Given the description of an element on the screen output the (x, y) to click on. 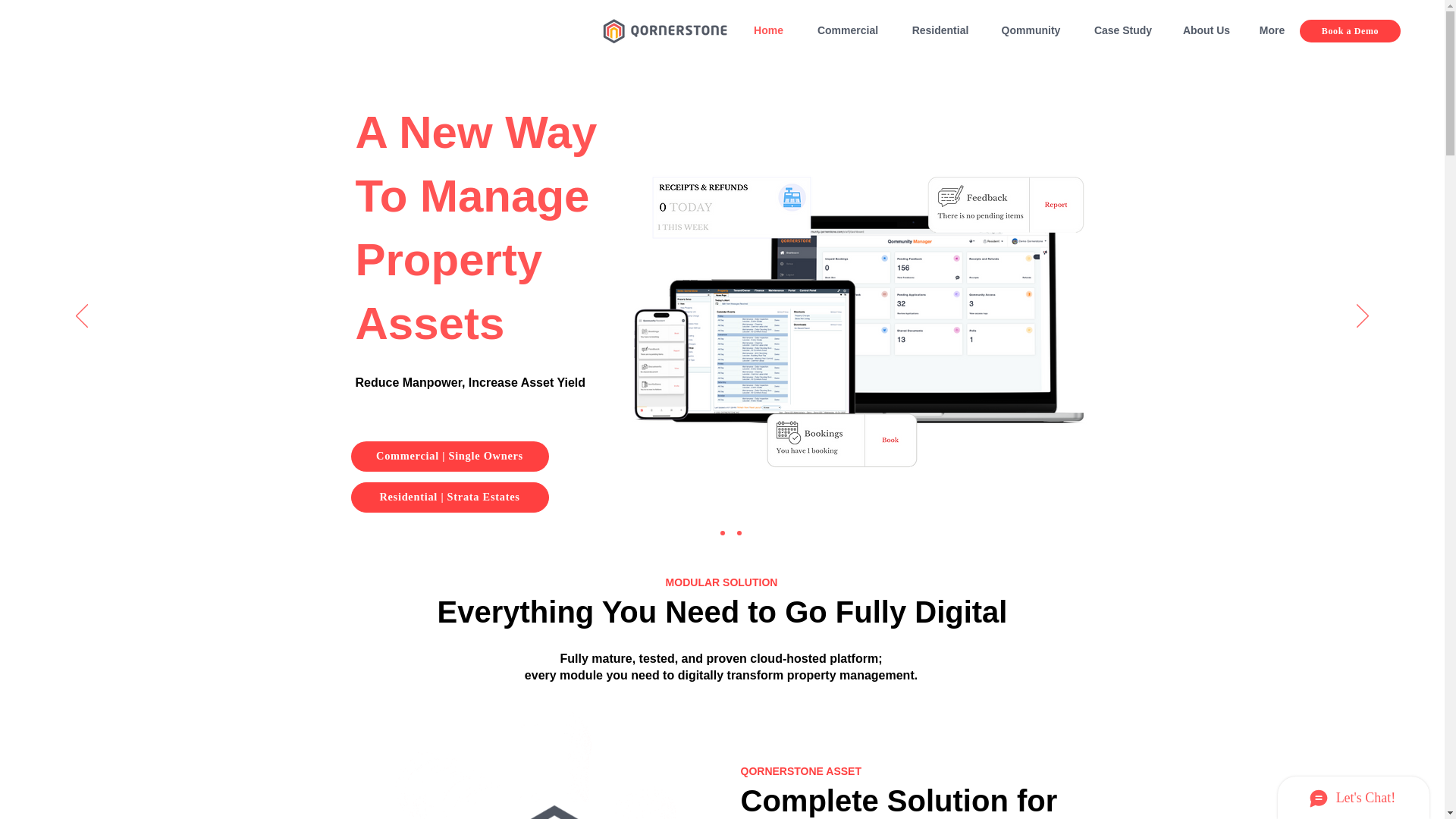
Commercial (847, 30)
Qornerstone Asset Eco system.gif (554, 760)
Case Study (1123, 30)
Qommunity (1030, 30)
About Us (1206, 30)
Residential (940, 30)
Home (768, 30)
Book a Demo (1350, 30)
